Given the description of an element on the screen output the (x, y) to click on. 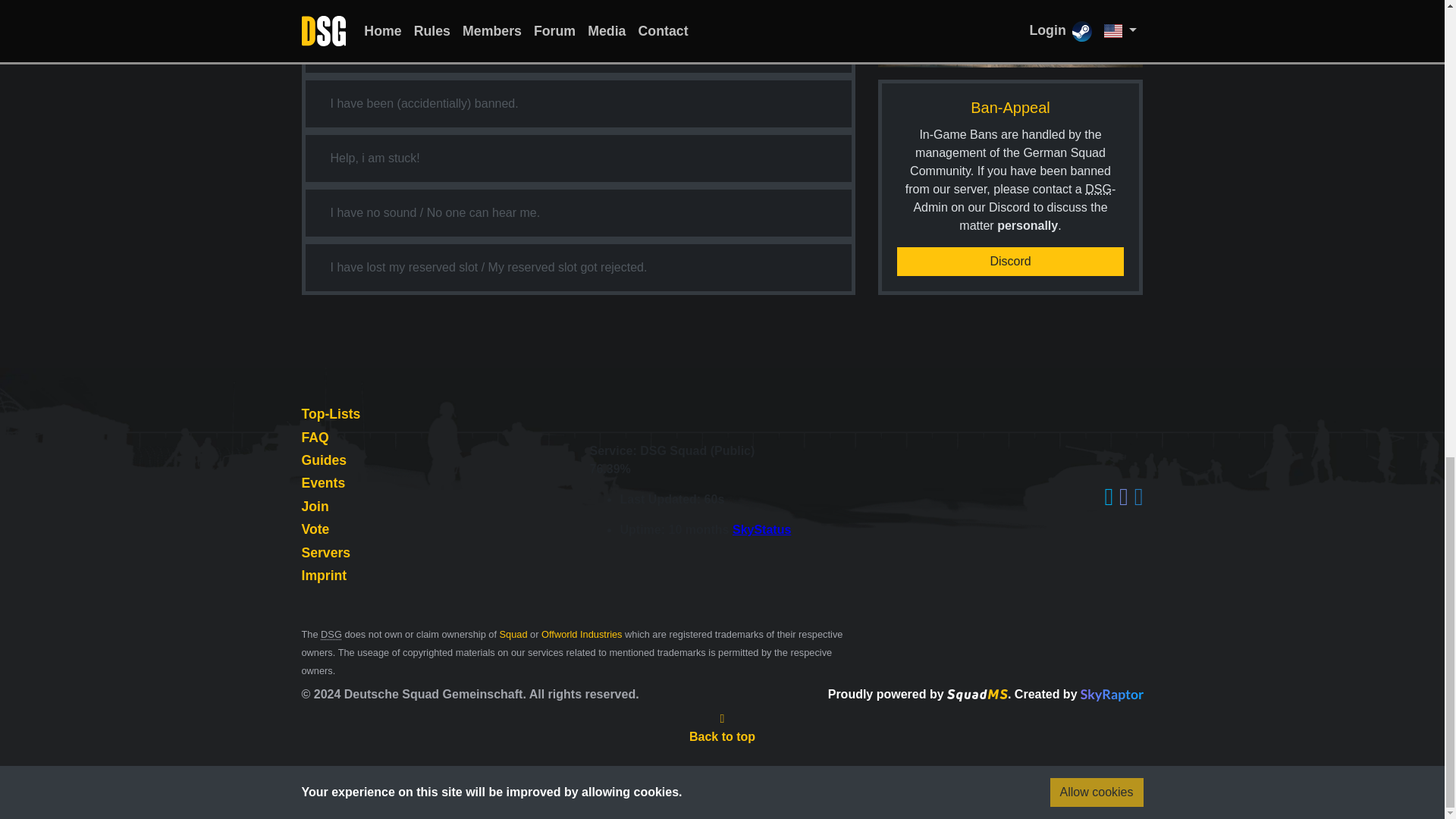
Top-Lists (331, 413)
Deutsche Squad Gemeinschaft (331, 633)
I can't find the server (385, 49)
FAQ (315, 437)
Imprint (324, 575)
Events (323, 482)
Help, i am stuck! (374, 158)
Guides (324, 459)
Join (315, 506)
Vote (315, 529)
Servers (325, 552)
My game crashes at startup (404, 4)
